Given the description of an element on the screen output the (x, y) to click on. 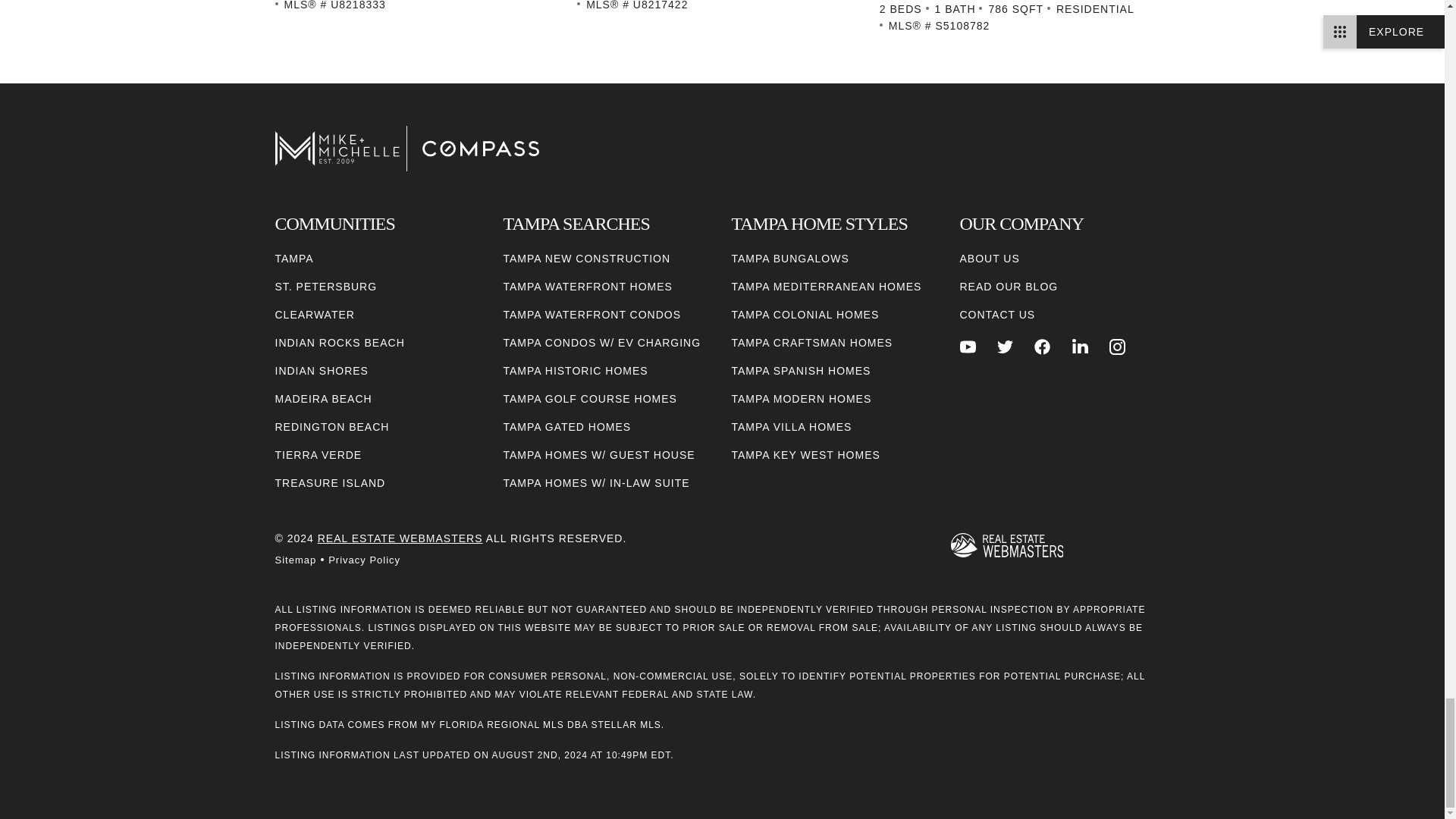
YOUTUBE (967, 346)
FACEBOOK (1041, 346)
LINKEDIN (1079, 346)
TWITTER (1005, 346)
